Given the description of an element on the screen output the (x, y) to click on. 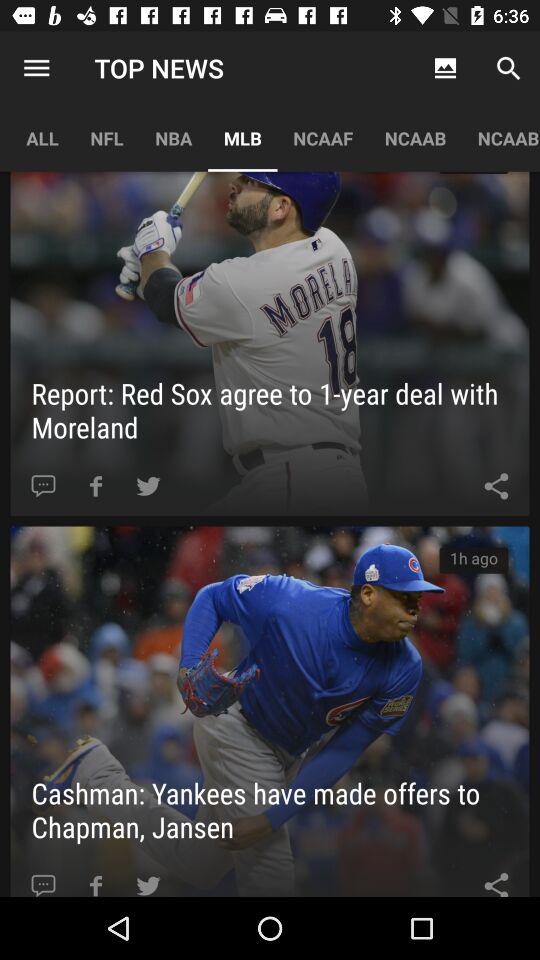
choose item to the right of the nfl (173, 138)
